Given the description of an element on the screen output the (x, y) to click on. 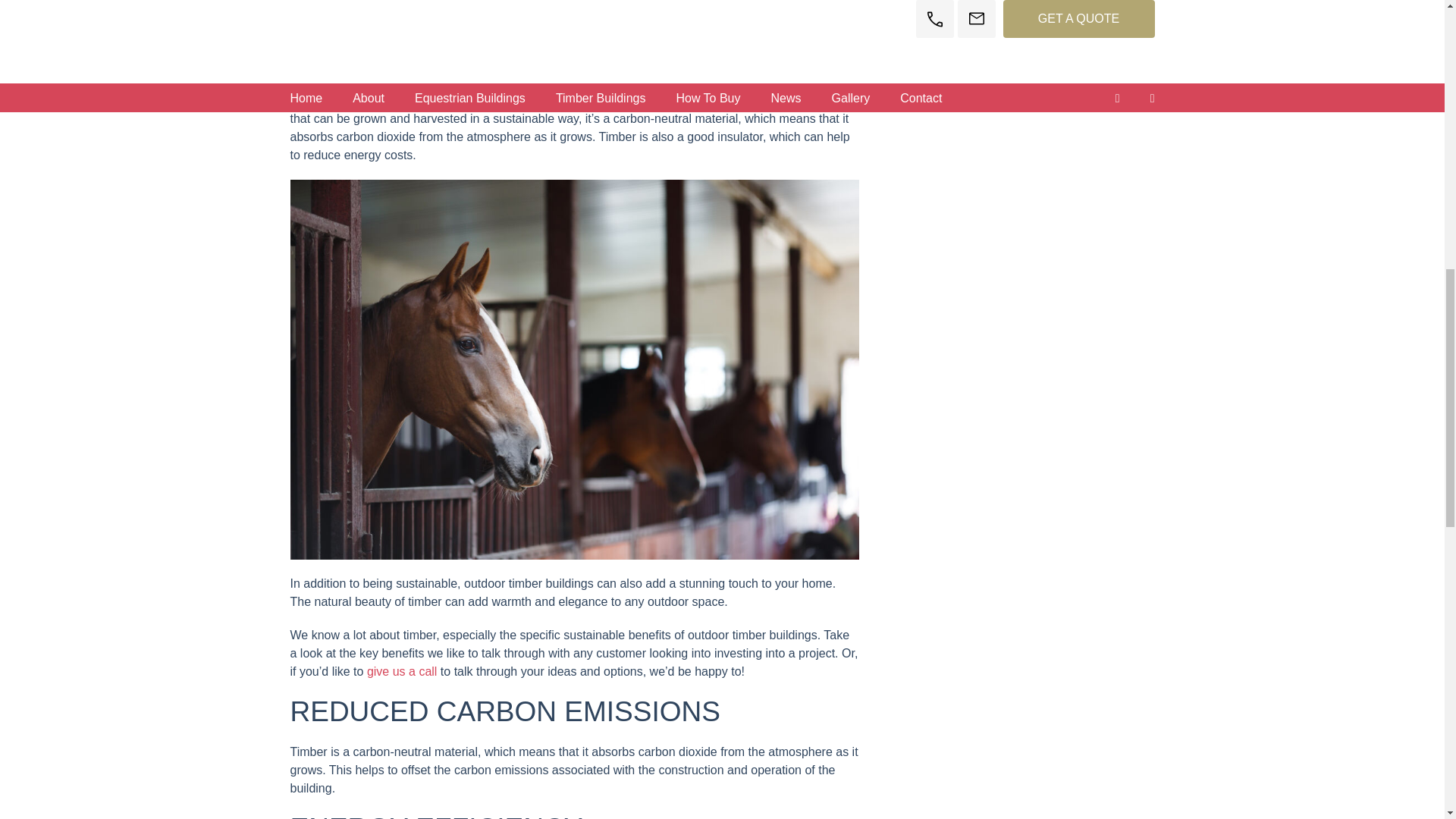
give us a call (402, 671)
highest quality materials and construction methods (472, 30)
wide range of timber buildings (454, 48)
